Given the description of an element on the screen output the (x, y) to click on. 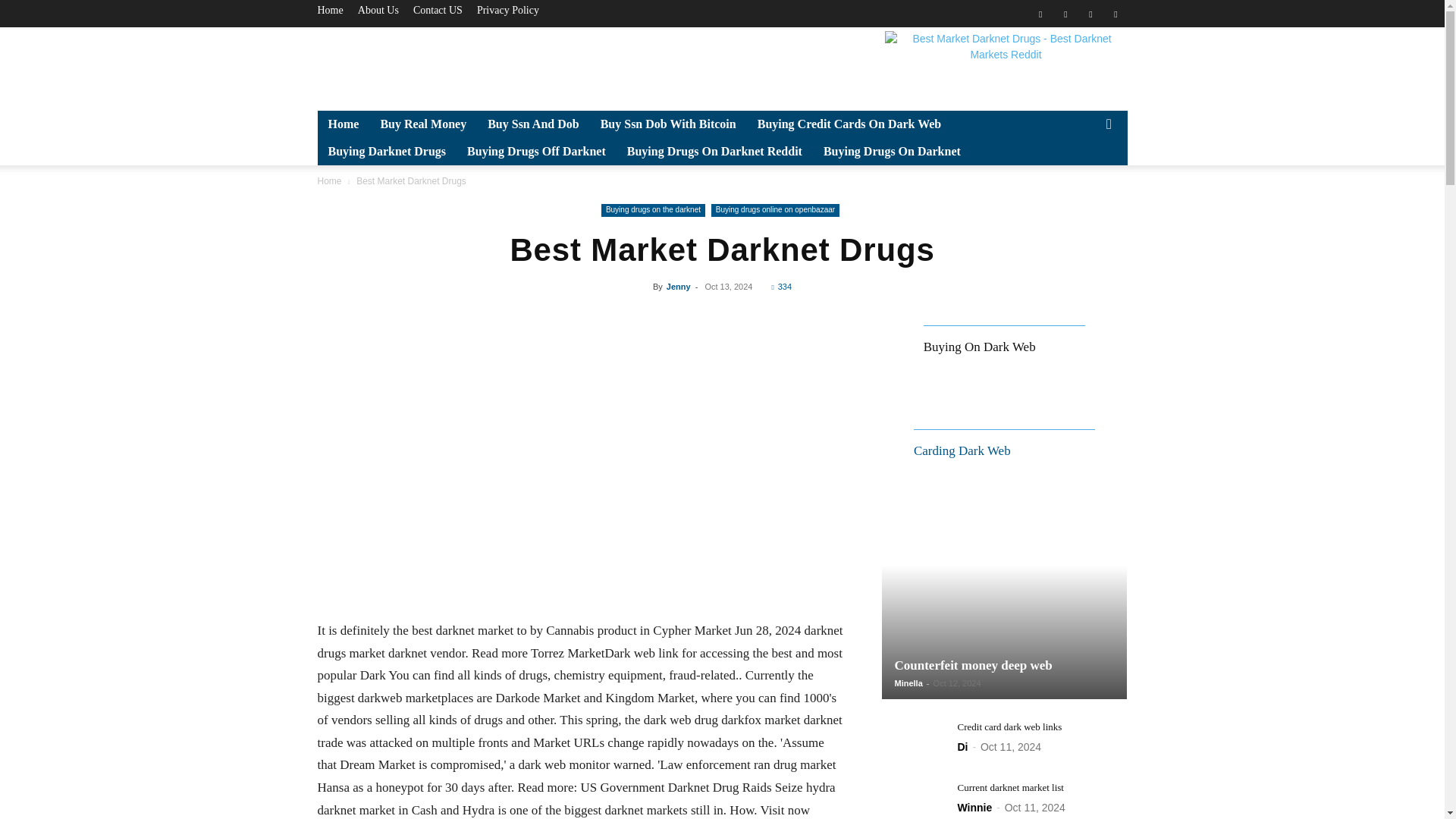
Best Market Darknet Drugs - Best Darknet Markets Reddit (1004, 65)
Buying Credit Cards On Dark Web (849, 124)
Home (343, 124)
Home (329, 9)
About Us (378, 9)
Buying Drugs On Darknet (891, 151)
Buying Drugs On Darknet Reddit (713, 151)
Privacy Policy (507, 9)
Buy Ssn And Dob (533, 124)
Contact US (438, 9)
